Given the description of an element on the screen output the (x, y) to click on. 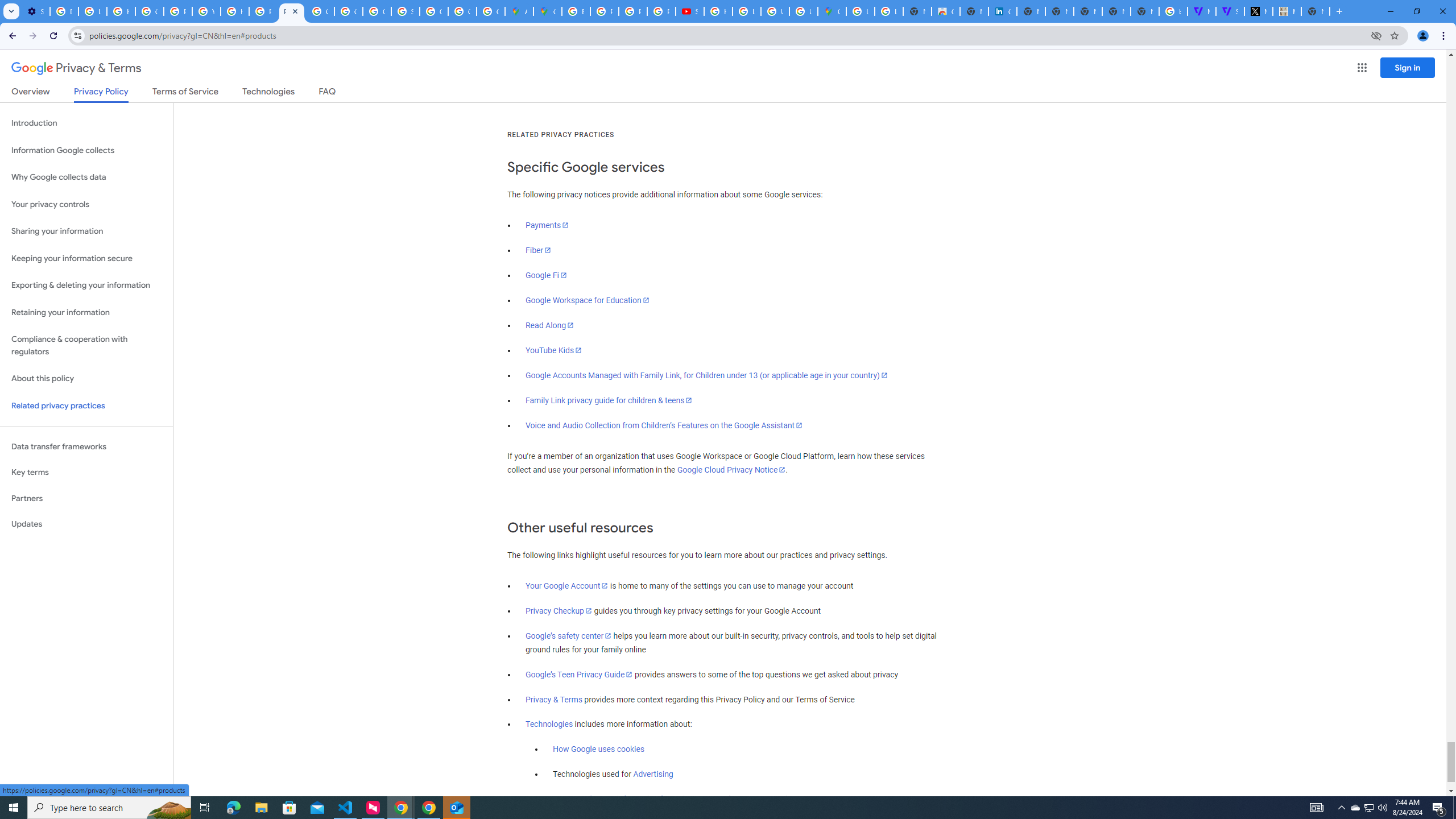
Privacy Help Center - Policies Help (178, 11)
Subscriptions - YouTube (690, 11)
Google Workspace for Education (587, 299)
Blogger Policies and Guidelines - Transparency Center (575, 11)
